Given the description of an element on the screen output the (x, y) to click on. 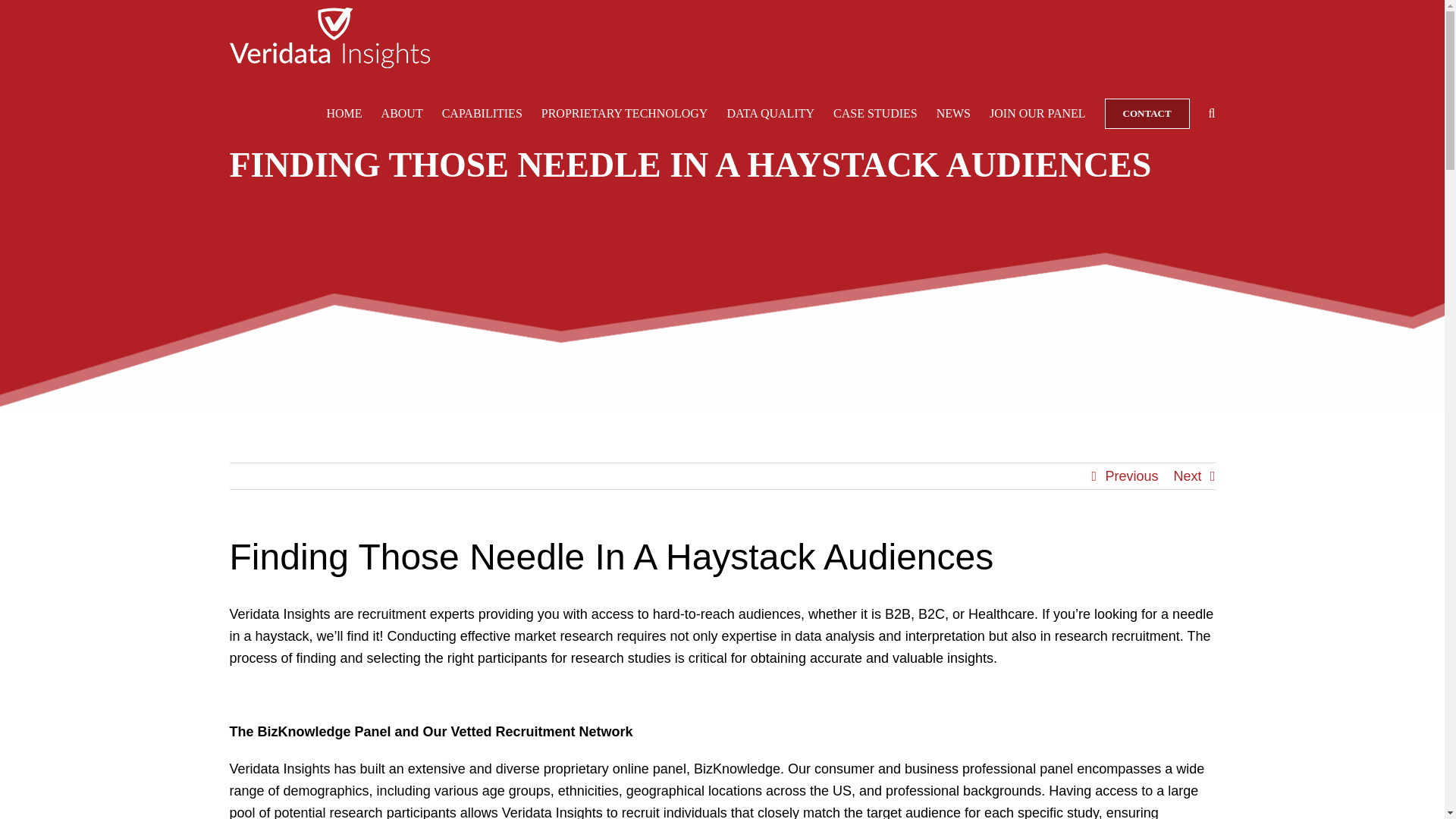
JOIN OUR PANEL (1038, 113)
CAPABILITIES (482, 113)
Previous (1131, 475)
CONTACT (1147, 113)
Next (1187, 475)
CASE STUDIES (874, 113)
PROPRIETARY TECHNOLOGY (624, 113)
DATA QUALITY (769, 113)
